Given the description of an element on the screen output the (x, y) to click on. 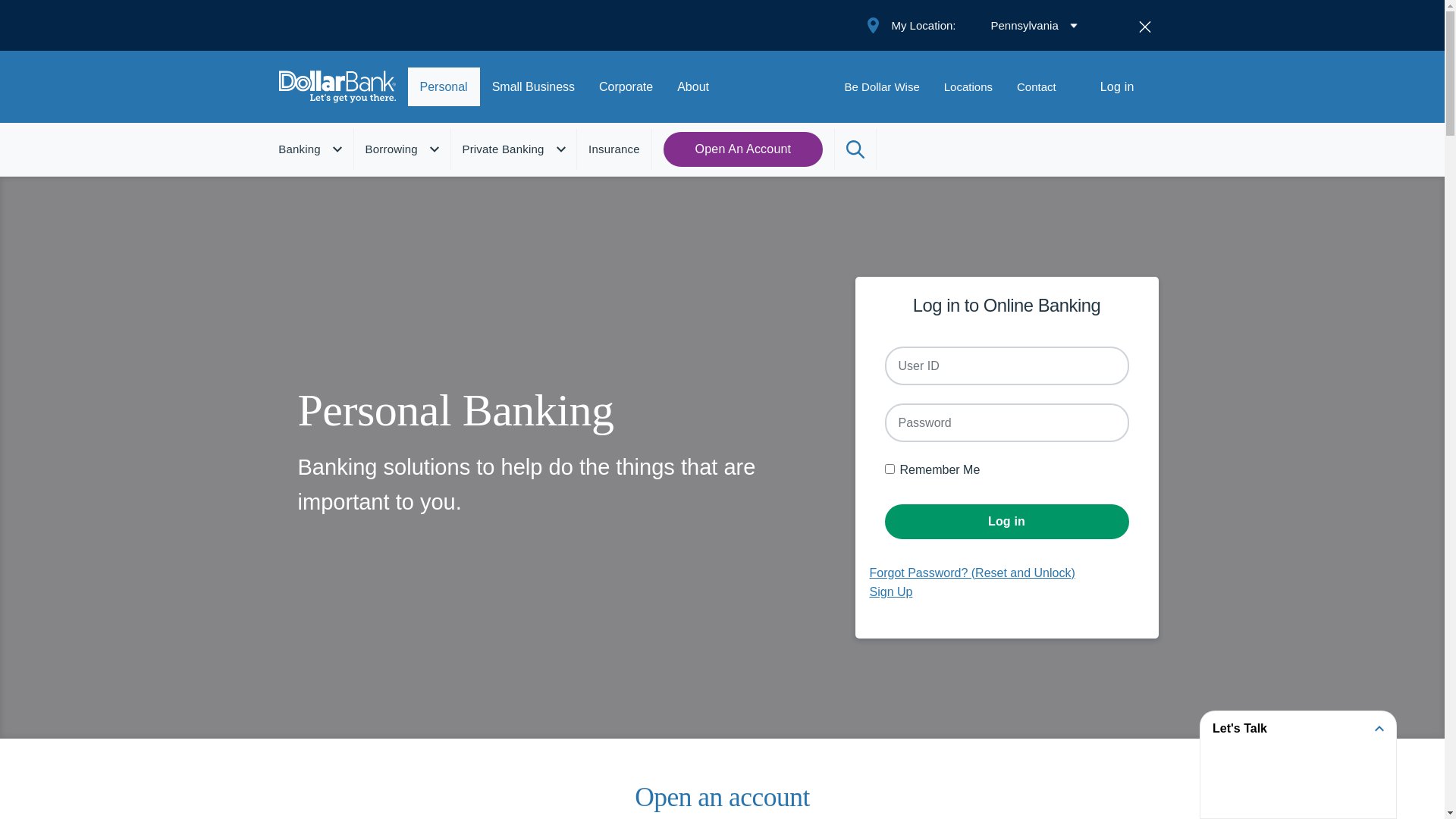
Personal Element type: text (443, 86)
About Element type: text (693, 86)
Home Element type: text (343, 86)
Open An Account Element type: text (743, 148)
Small Business Element type: text (533, 86)
Be Dollar Wise Element type: text (881, 87)
Log in Element type: text (1117, 86)
Log in Element type: text (1006, 521)
Insurance Element type: text (613, 148)
Corporate Element type: text (625, 86)
Contact Element type: text (1036, 87)
Locations Element type: text (967, 87)
Sign Up Element type: text (890, 591)
Forgot Password? (Reset and Unlock) Element type: text (971, 572)
Let's Talk Element type: text (1298, 728)
